Given the description of an element on the screen output the (x, y) to click on. 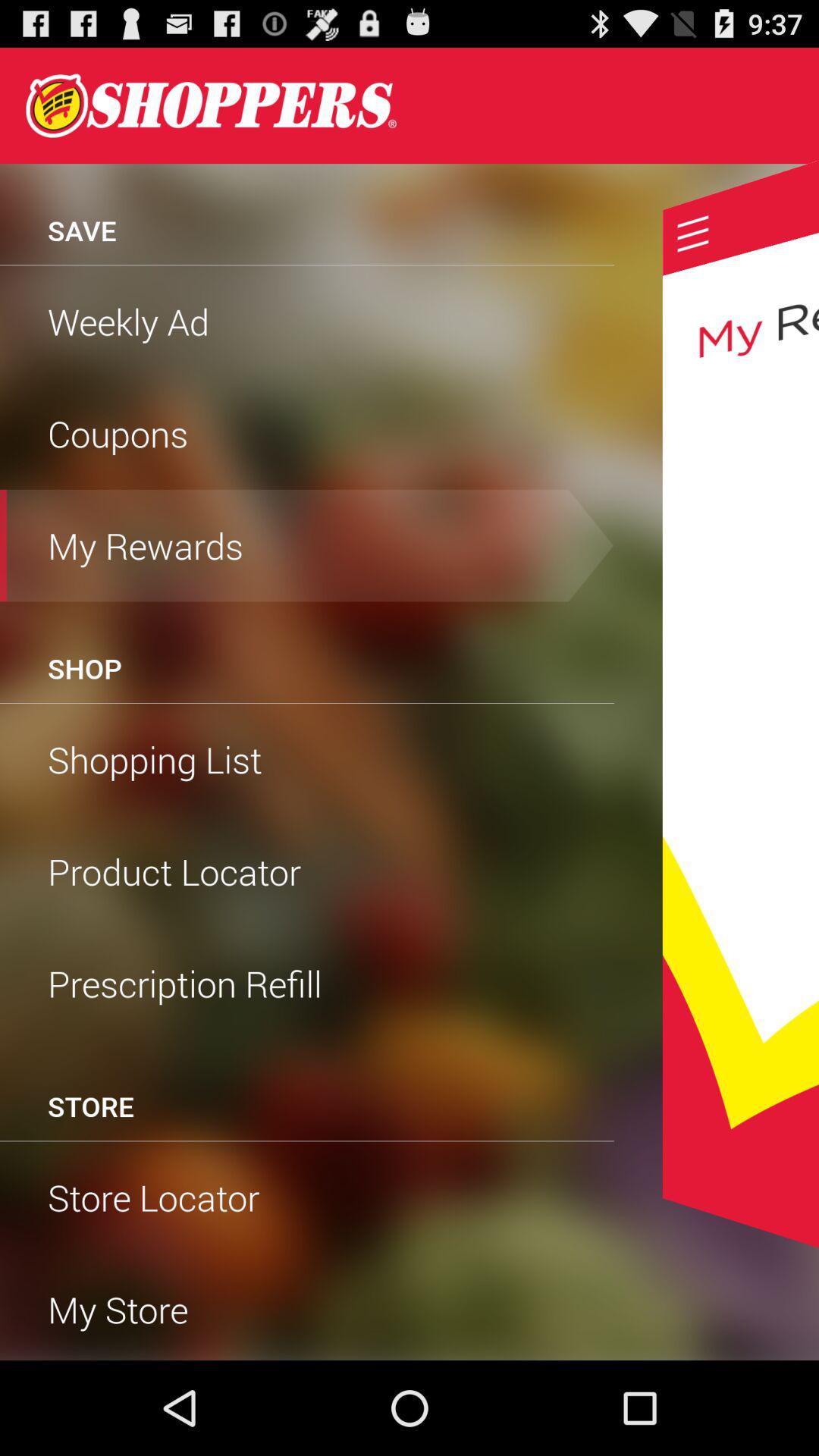
menu bar (692, 233)
